Given the description of an element on the screen output the (x, y) to click on. 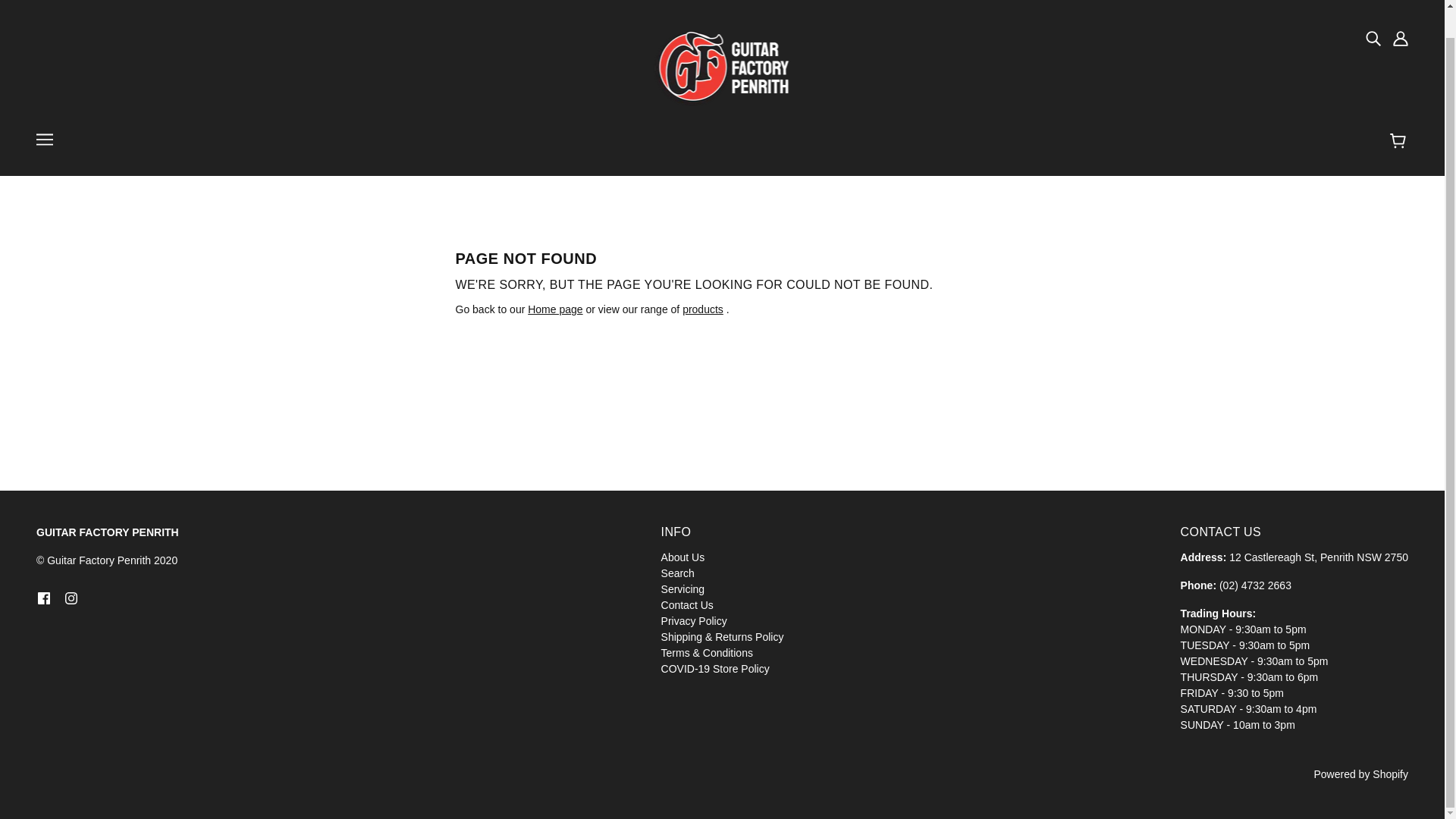
Contact Us (687, 604)
Search (677, 572)
Servicing (682, 589)
Guitar Factory Penrith (722, 67)
COVID-19 Store Policy (715, 667)
Privacy Policy (693, 621)
About Us (682, 557)
